Given the description of an element on the screen output the (x, y) to click on. 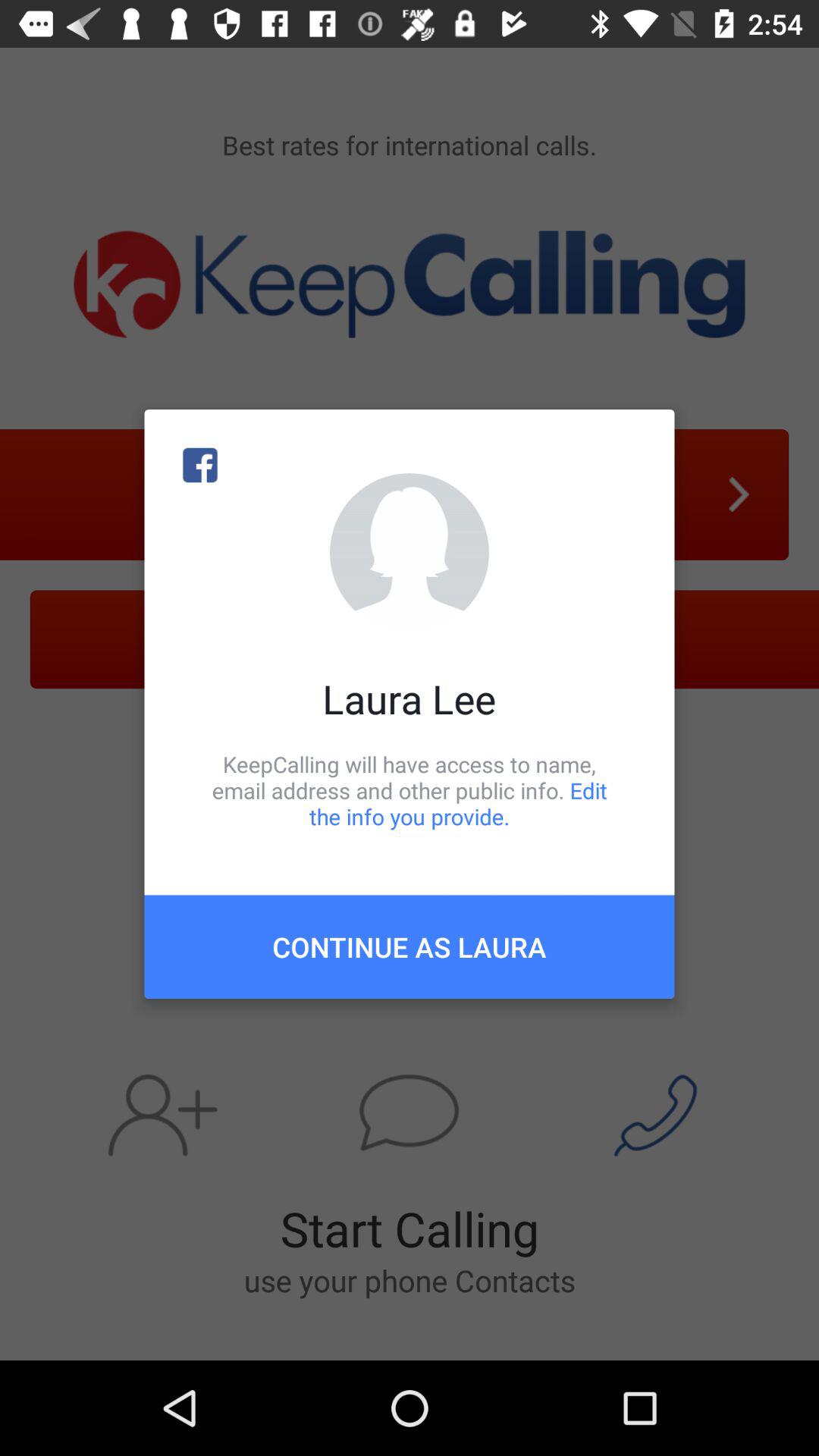
choose the item below laura lee item (409, 790)
